Given the description of an element on the screen output the (x, y) to click on. 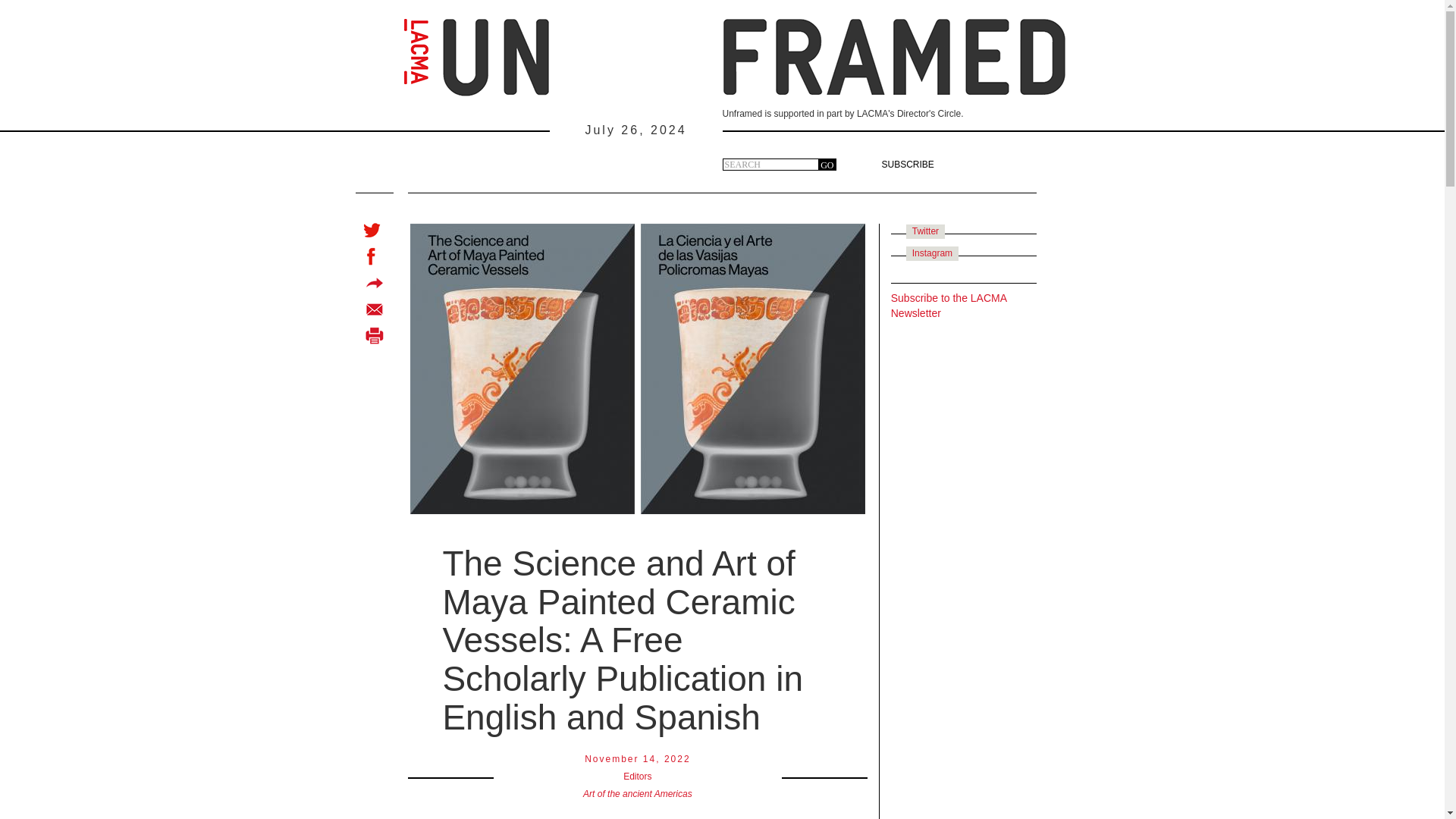
Email (374, 308)
Instagram (932, 253)
Art of the ancient Americas (638, 793)
Enter the terms you wish to search for. (770, 164)
Editors (636, 776)
Twitter (925, 231)
GO (826, 164)
SUBSCRIBE (906, 163)
Subscribe to the LACMA Newsletter (949, 305)
Share (374, 282)
Print (374, 335)
